Given the description of an element on the screen output the (x, y) to click on. 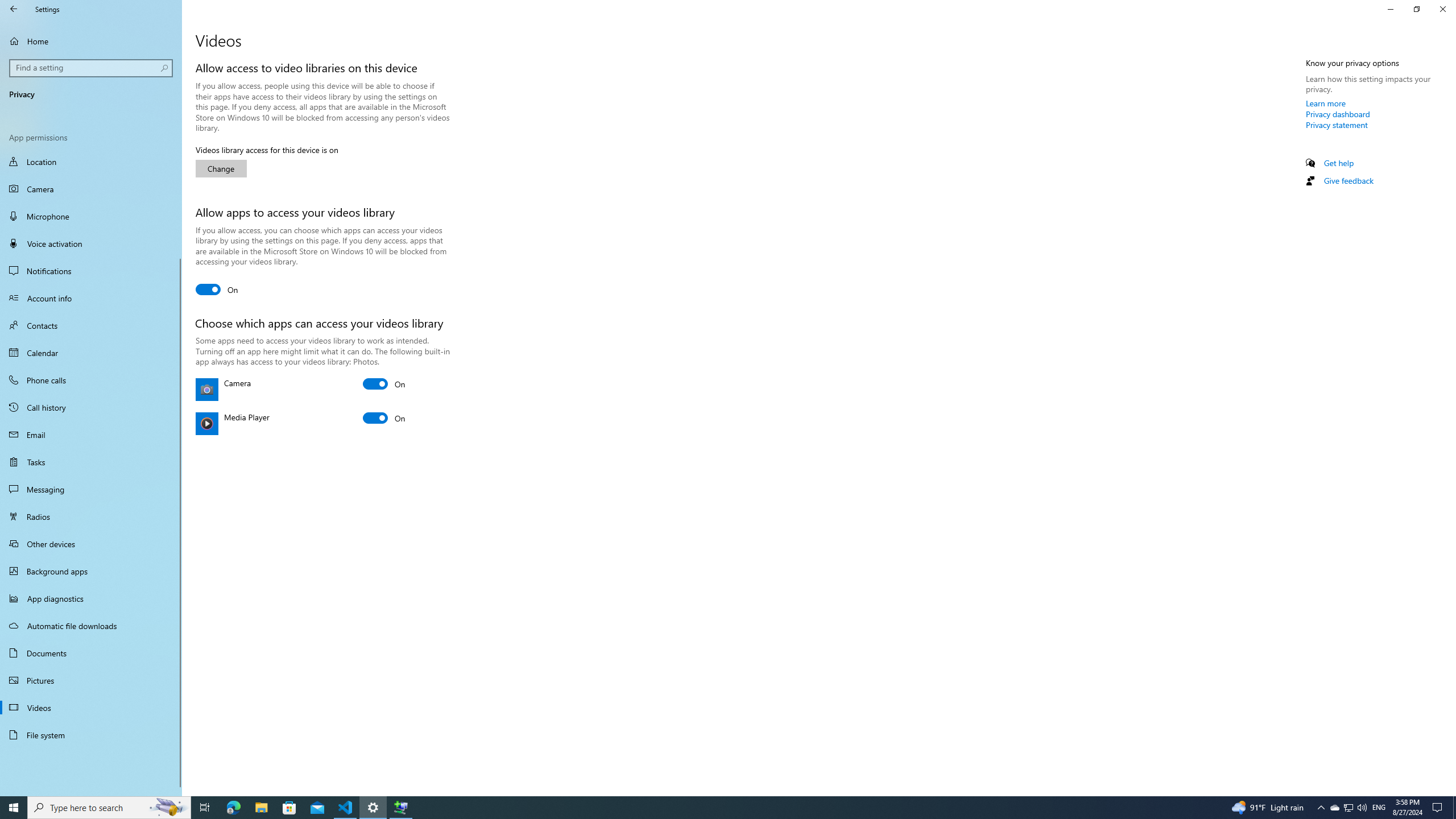
Location (91, 162)
Search box, Find a setting (91, 67)
Media Player (384, 417)
Documents (91, 652)
Learn more (1326, 102)
Radios (91, 515)
Privacy dashboard (1338, 113)
Calendar (91, 352)
